Given the description of an element on the screen output the (x, y) to click on. 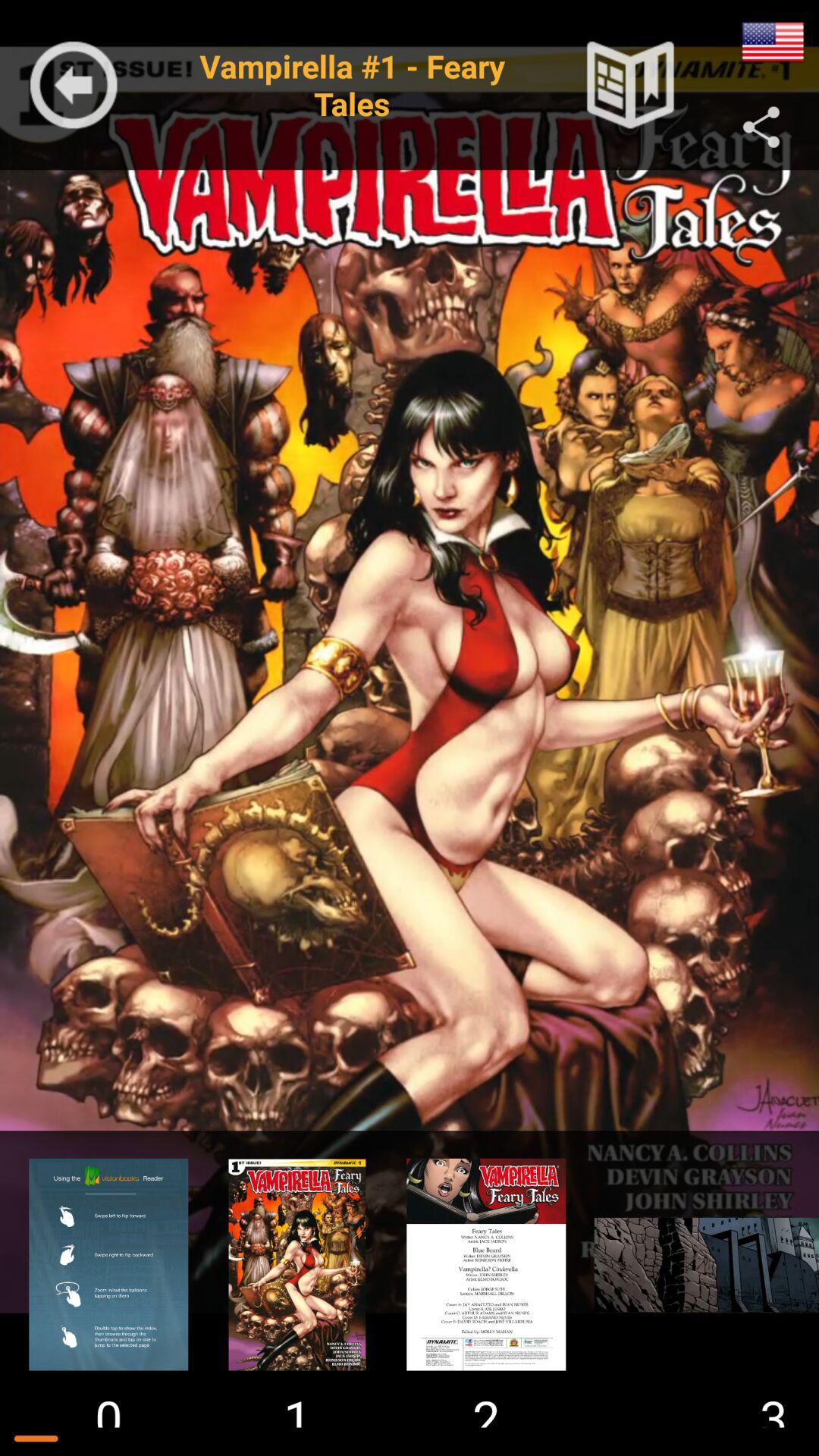
go back (73, 85)
